Given the description of an element on the screen output the (x, y) to click on. 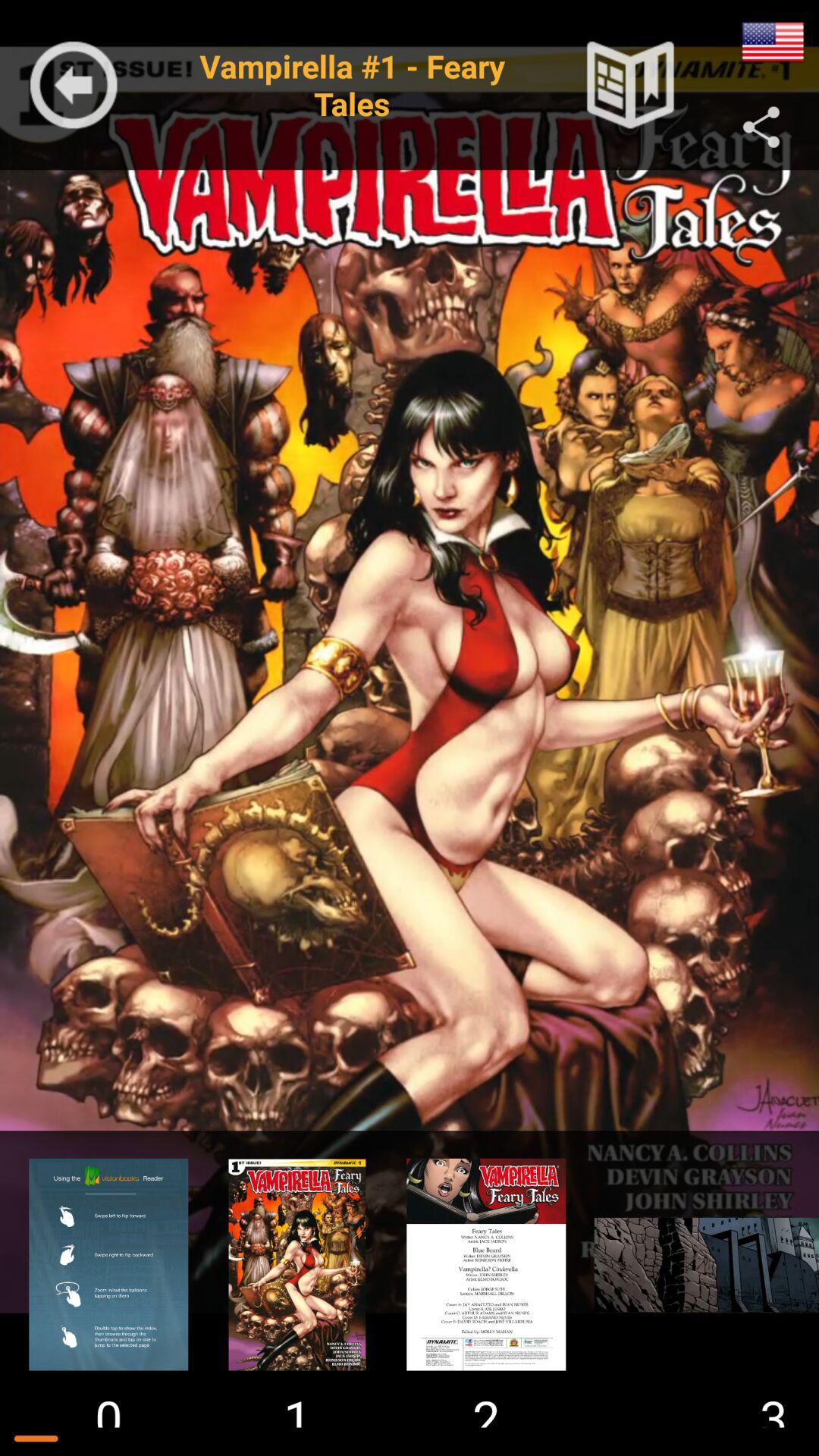
go back (73, 85)
